Given the description of an element on the screen output the (x, y) to click on. 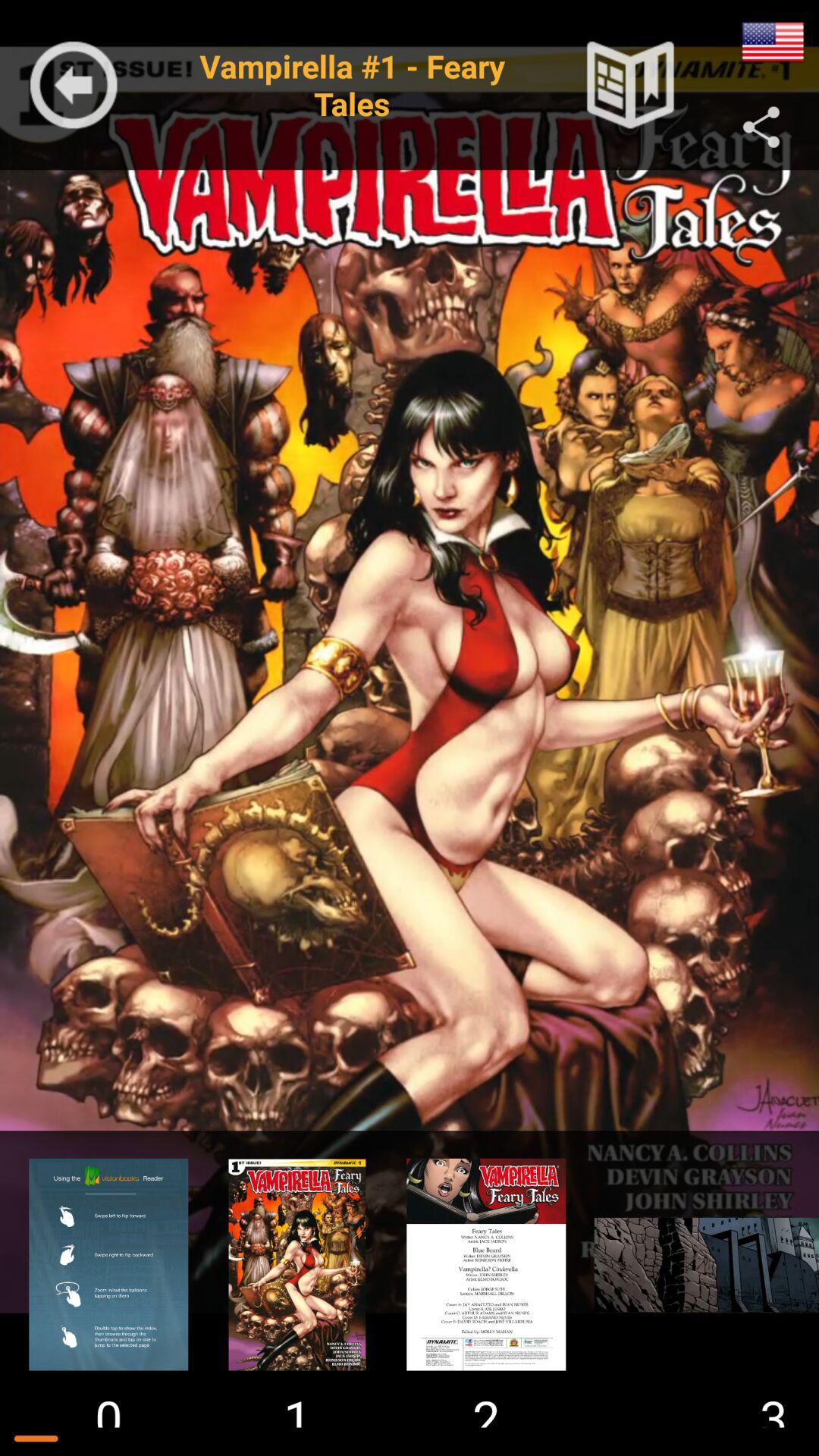
go back (73, 85)
